Given the description of an element on the screen output the (x, y) to click on. 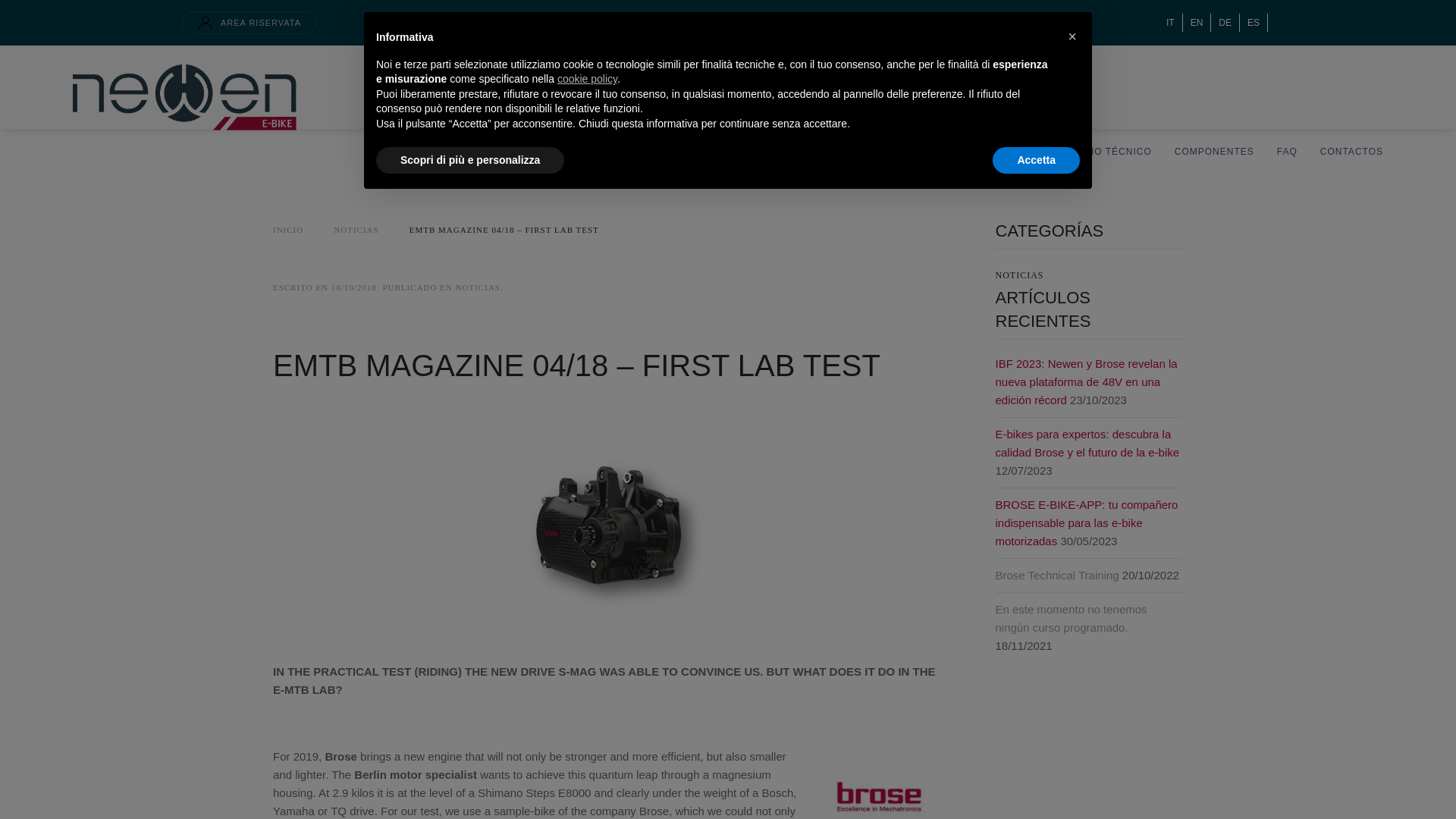
EN (1196, 22)
NEWEN GROUP (773, 120)
AREA RISERVATA (249, 22)
NOTICIAS (355, 230)
COMPONENTES (1214, 120)
NOTICIAS (477, 286)
ES (1253, 22)
NOTICIAS (1088, 275)
INICIO (287, 230)
DE (1225, 22)
Brose Technical Training (1056, 574)
IT (1170, 22)
